Given the description of an element on the screen output the (x, y) to click on. 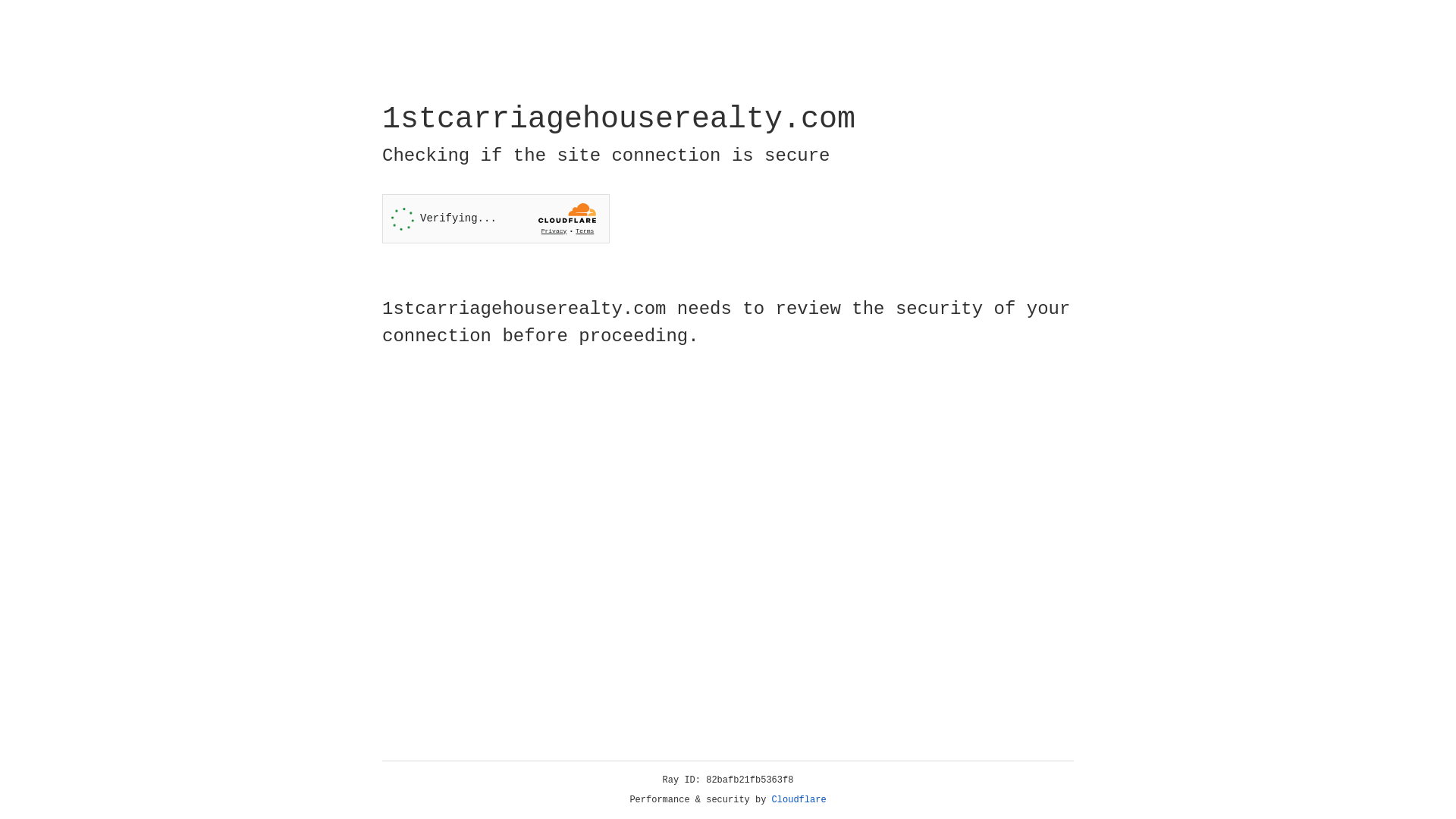
Cloudflare Element type: text (798, 799)
Widget containing a Cloudflare security challenge Element type: hover (495, 218)
